Given the description of an element on the screen output the (x, y) to click on. 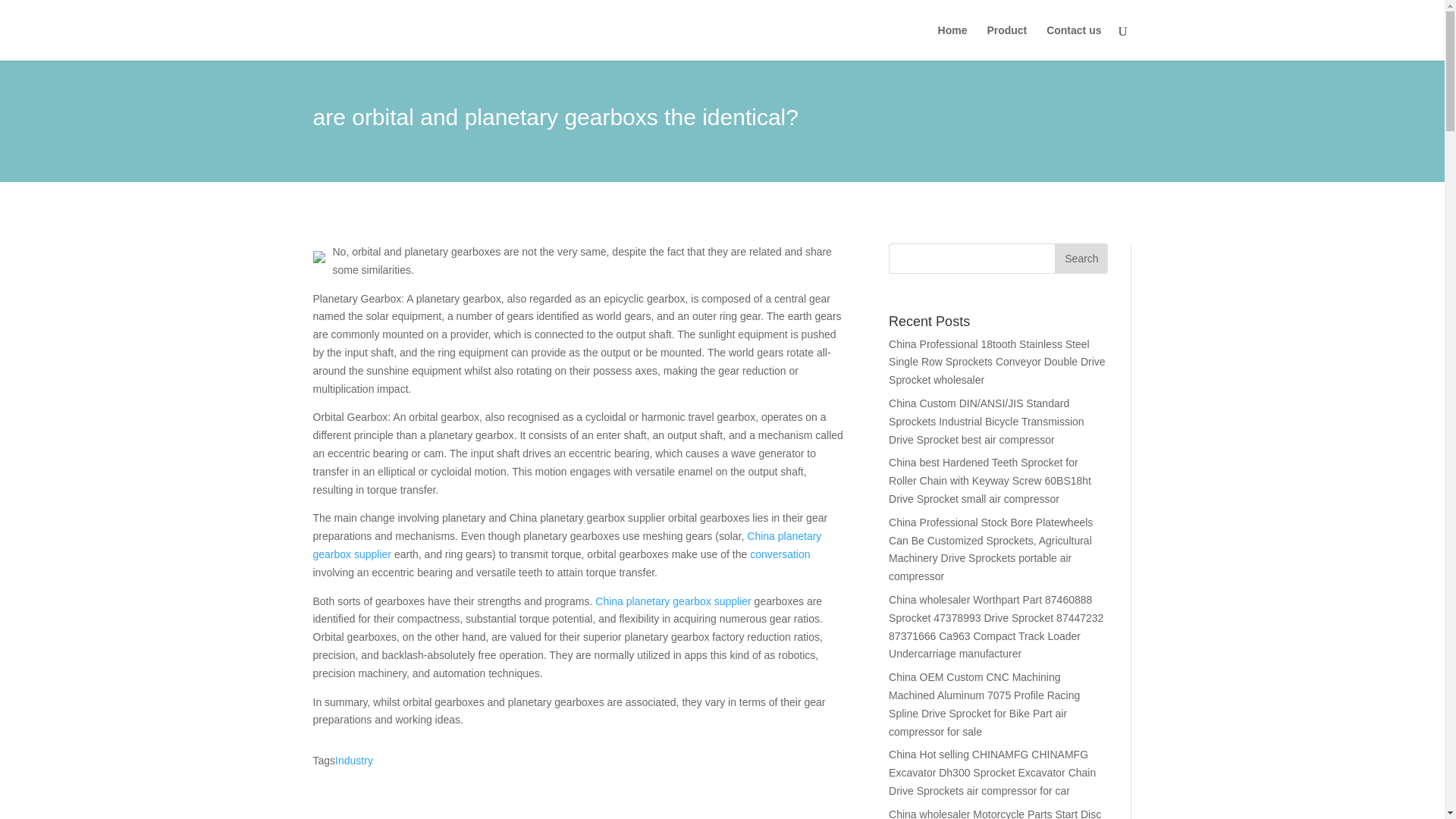
Search (1081, 258)
Product (1006, 42)
conversation (779, 553)
Contact us (1073, 42)
China planetary gearbox supplier (567, 544)
